Given the description of an element on the screen output the (x, y) to click on. 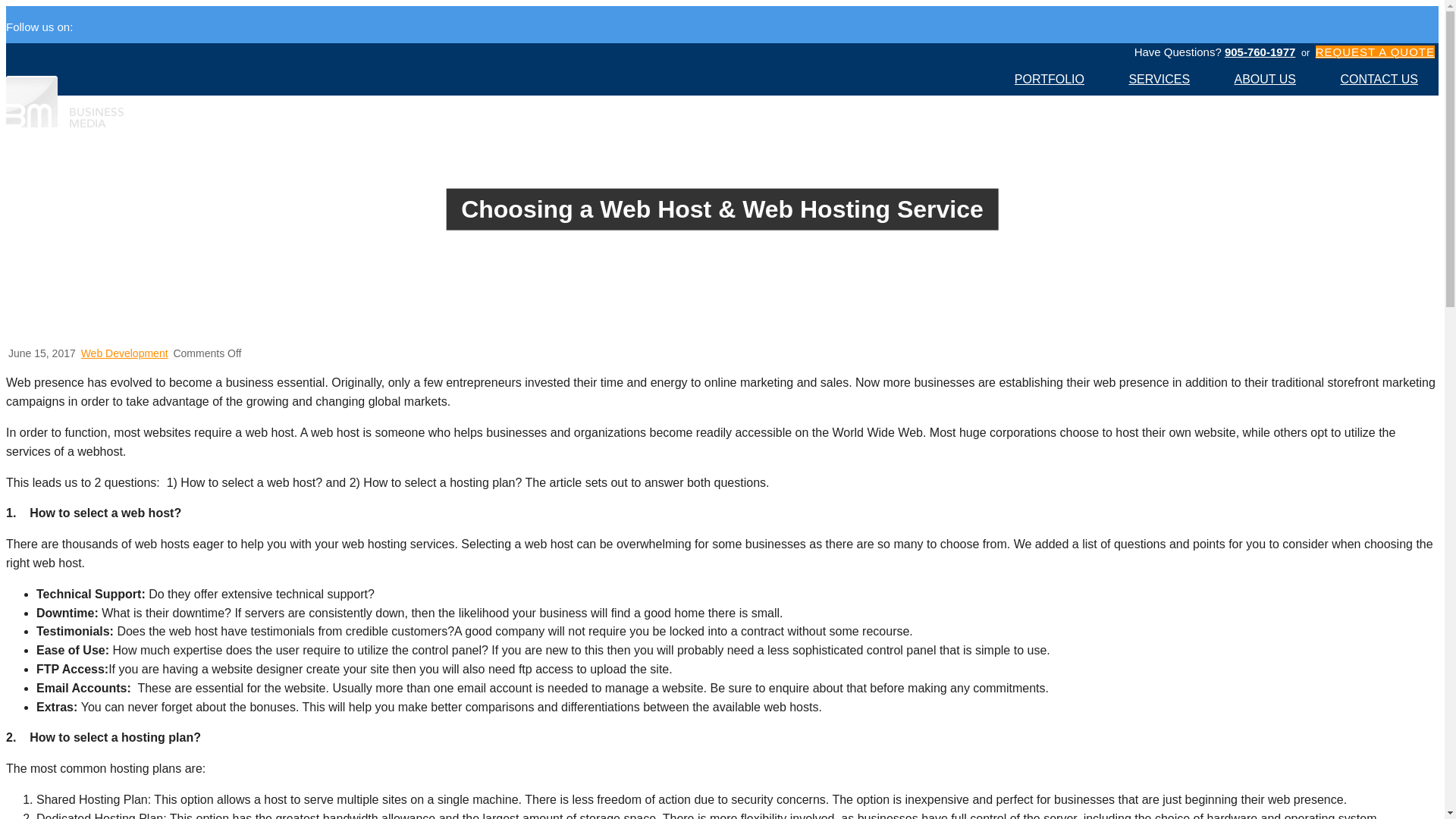
SERVICES (1158, 79)
Web Development (124, 353)
PORTFOLIO (1049, 79)
905-760-1977 (1259, 51)
REQUEST A QUOTE (1375, 51)
ABOUT US (1265, 79)
